Given the description of an element on the screen output the (x, y) to click on. 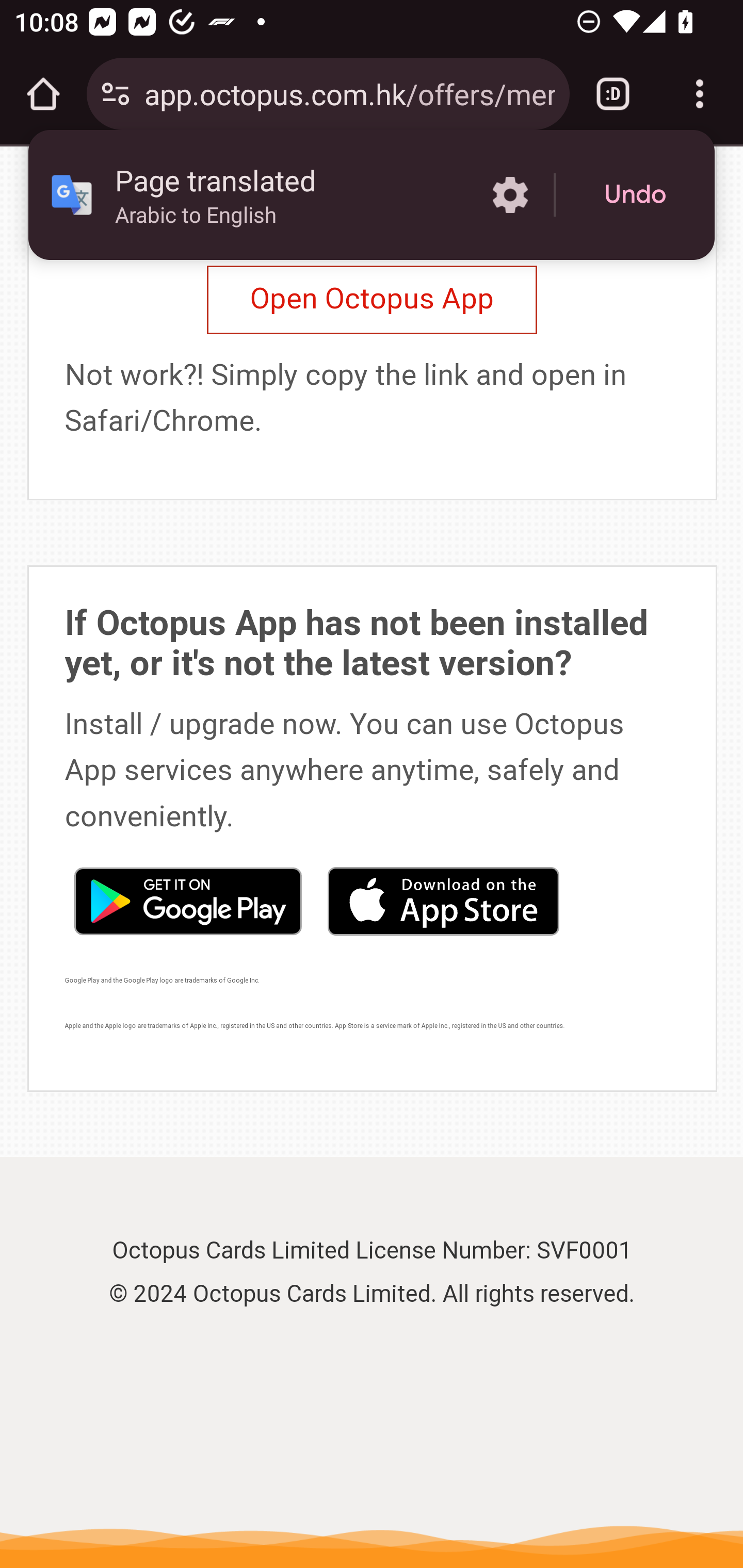
Open the home page (43, 93)
Connection is secure (115, 93)
Switch or close tabs (612, 93)
Customize and control Google Chrome (699, 93)
Undo (634, 195)
More options in the Page translated (509, 195)
Open Octopus App (371, 299)
Get it on Google Play (187, 900)
Download on the App Store (443, 900)
